Given the description of an element on the screen output the (x, y) to click on. 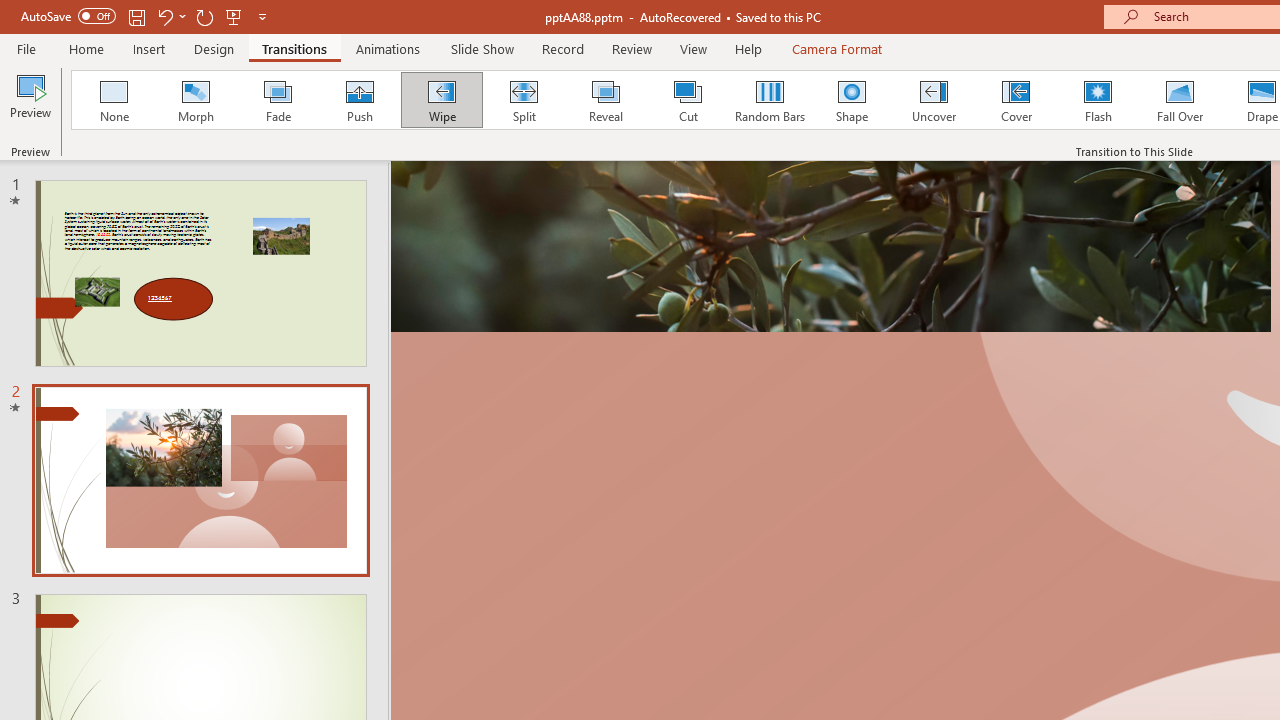
Random Bars (770, 100)
Slide Show (481, 48)
Split (523, 100)
Cut (687, 100)
Insert (149, 48)
Uncover (934, 100)
Redo (204, 15)
Preview (30, 102)
None (113, 100)
Review (631, 48)
Animations (388, 48)
From Beginning (234, 15)
Home (86, 48)
Reveal (605, 100)
Close up of an olive branch on a sunset (830, 246)
